Given the description of an element on the screen output the (x, y) to click on. 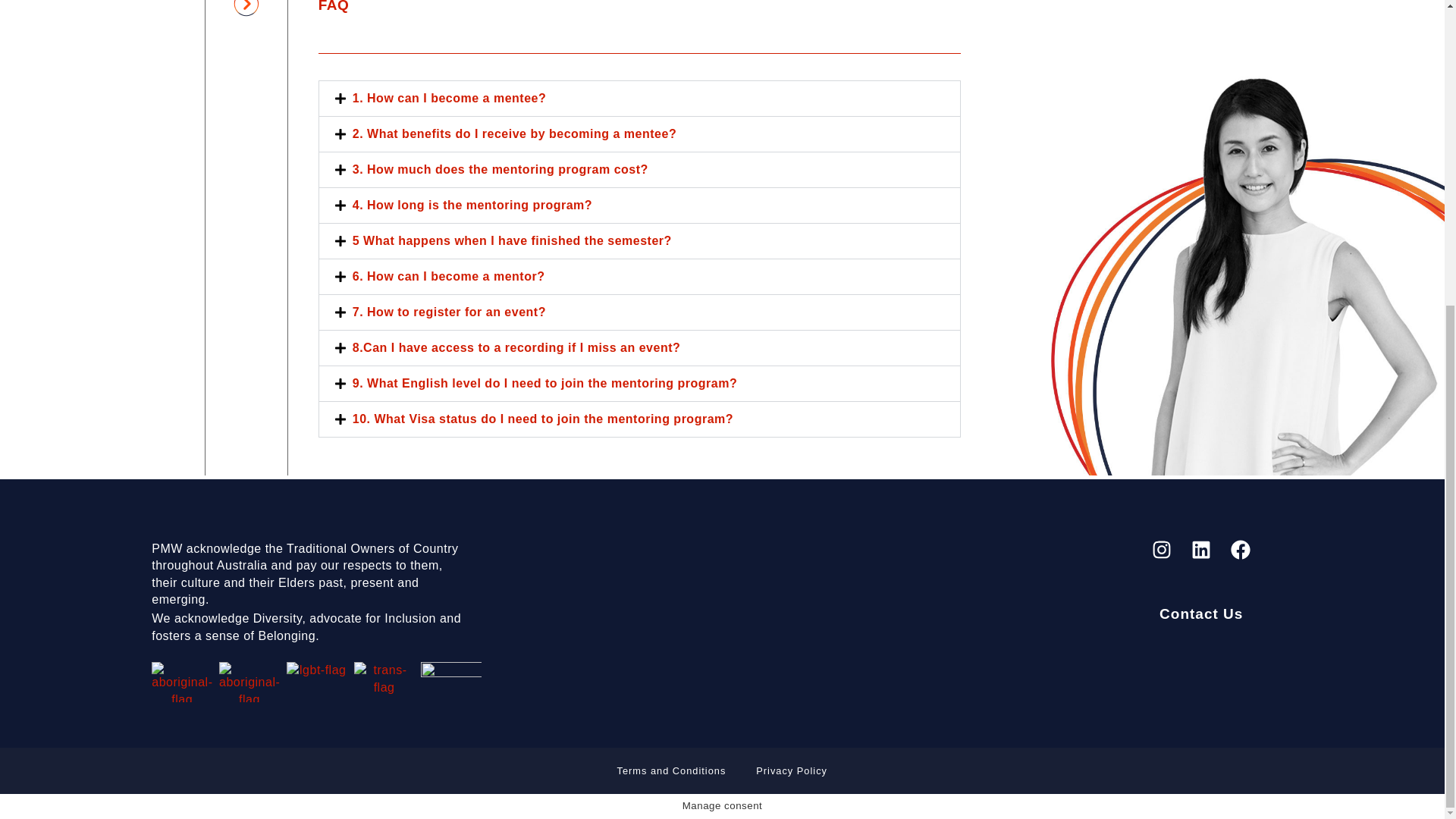
arrow-pmw (245, 8)
